Given the description of an element on the screen output the (x, y) to click on. 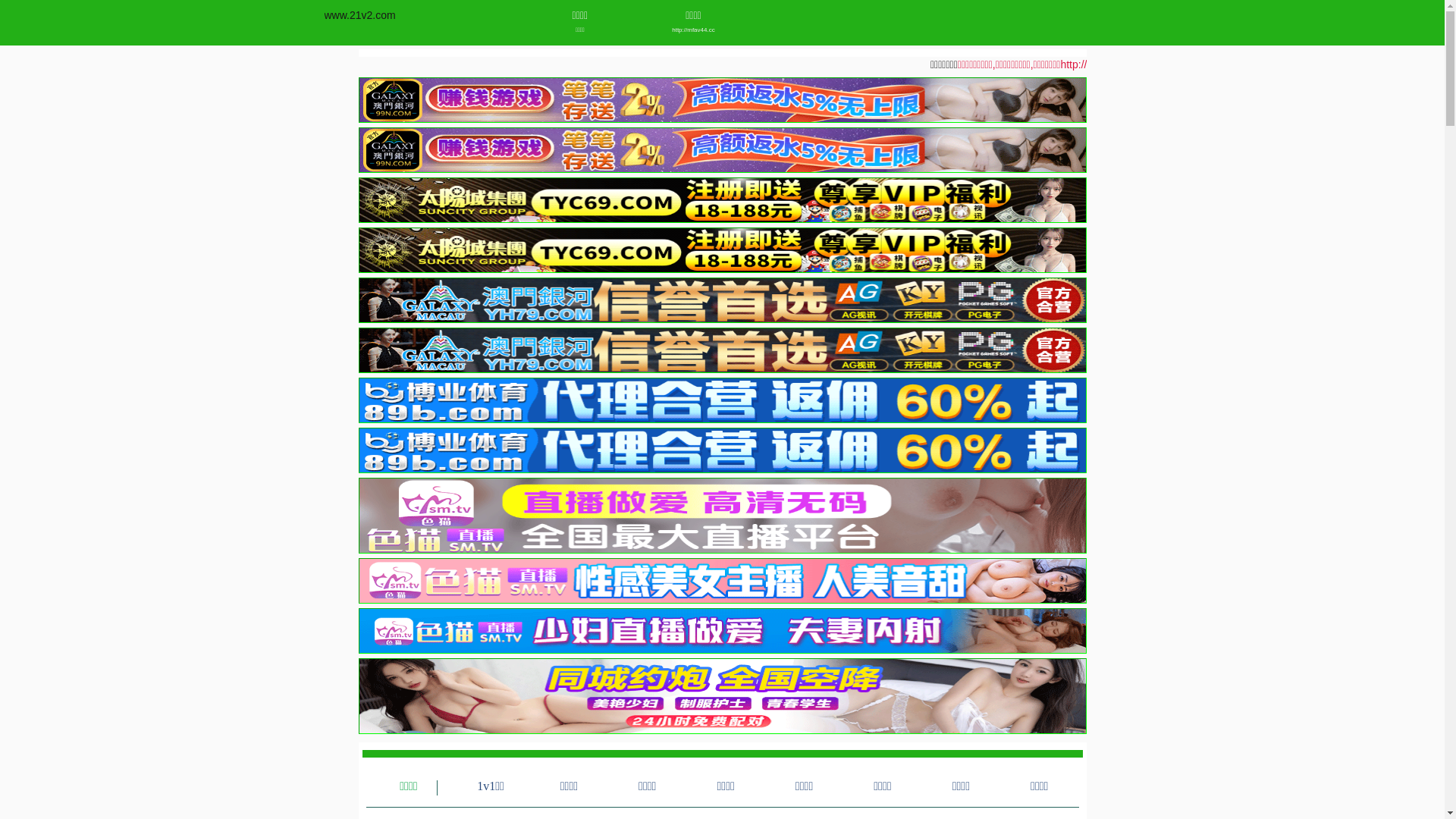
http://mfav44.cc Element type: text (693, 29)
www.21v2.com Element type: text (359, 15)
